Given the description of an element on the screen output the (x, y) to click on. 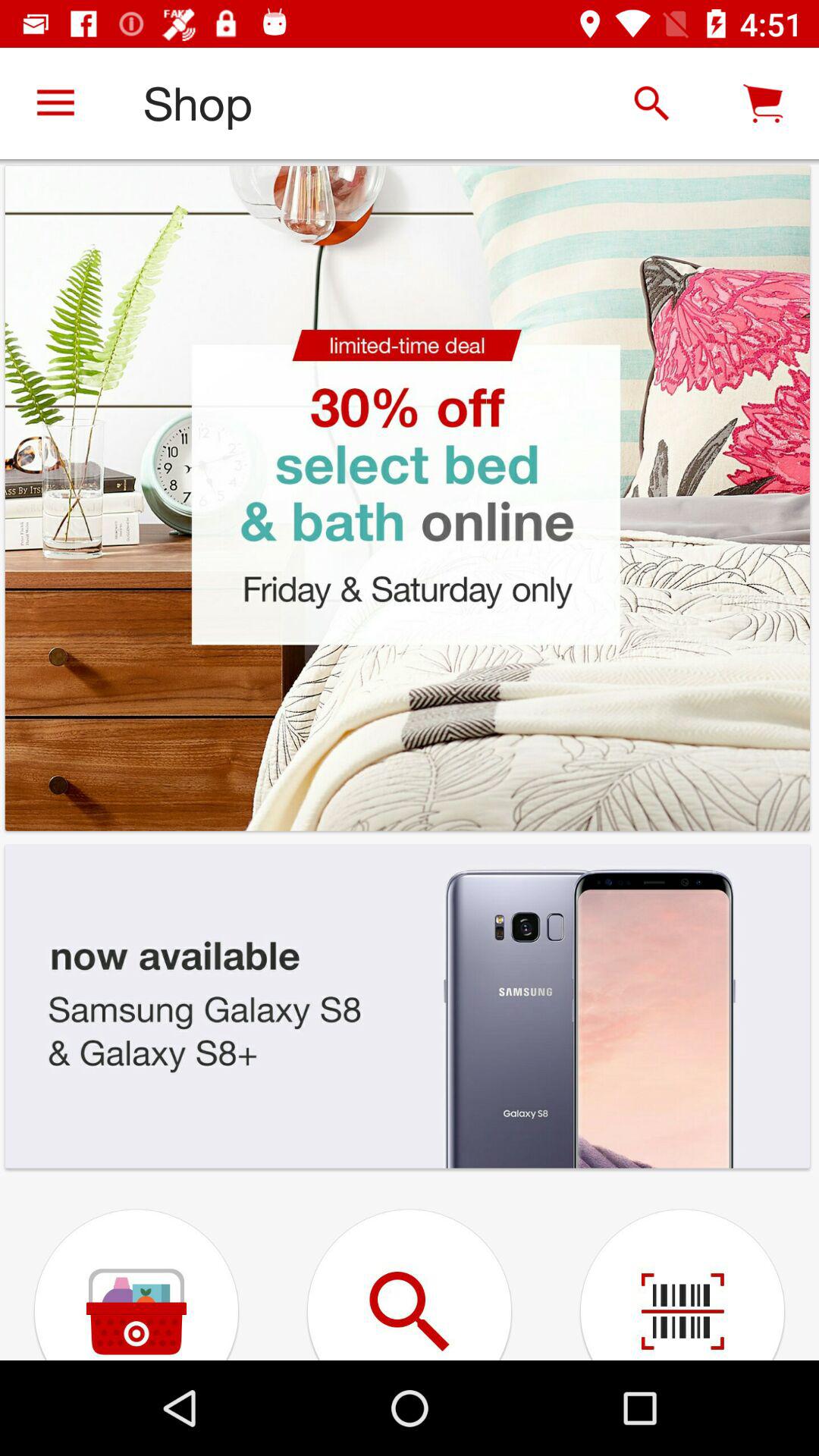
choose icon at the top left corner (55, 103)
